Given the description of an element on the screen output the (x, y) to click on. 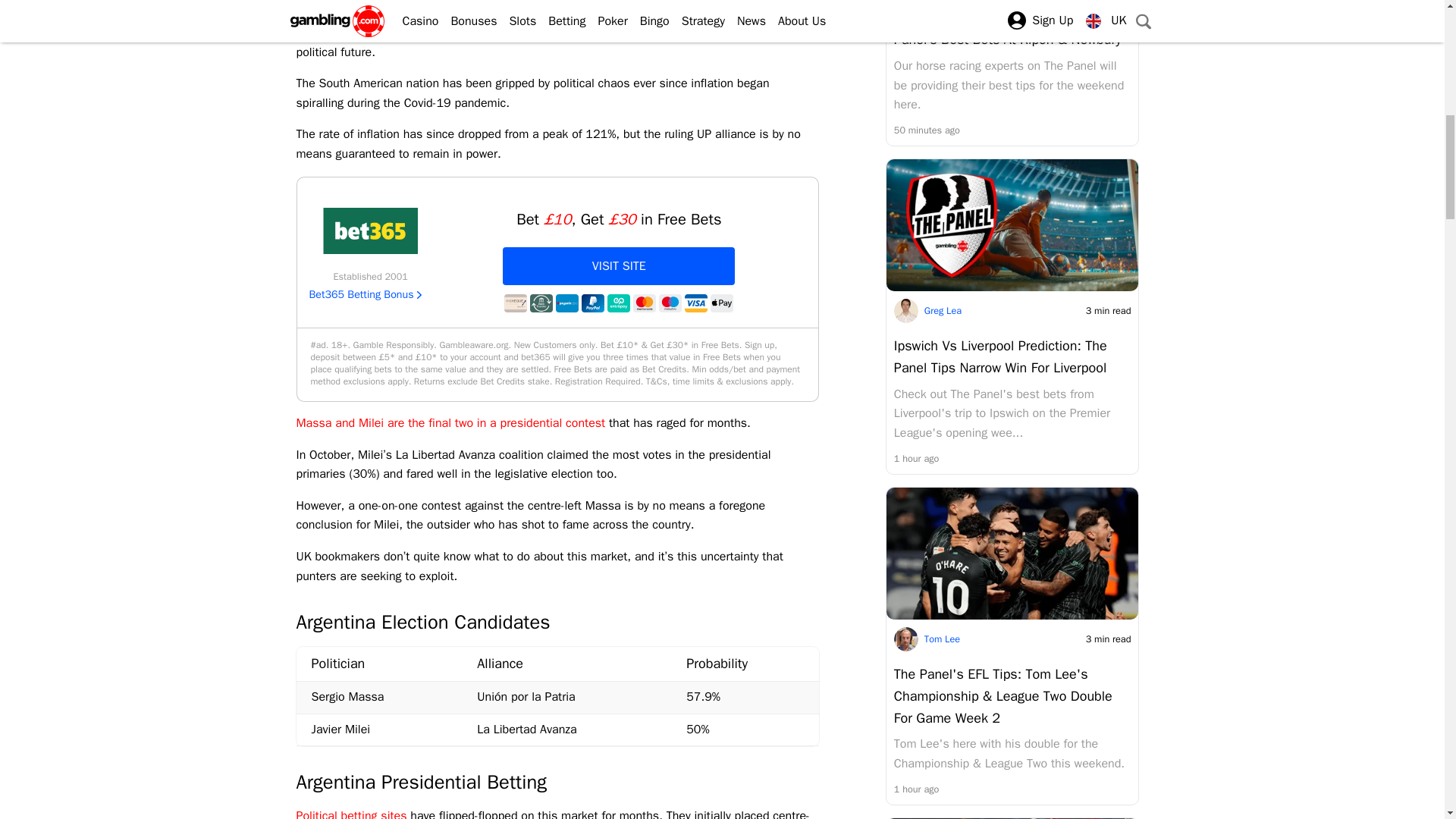
Cheque (515, 303)
Bet365 Sports (371, 230)
Paysafecard (567, 303)
Maestro (670, 303)
Entropay (618, 303)
MasterCard (644, 303)
VISA (695, 303)
Bank Transfer (541, 303)
PayPal (592, 303)
